Given the description of an element on the screen output the (x, y) to click on. 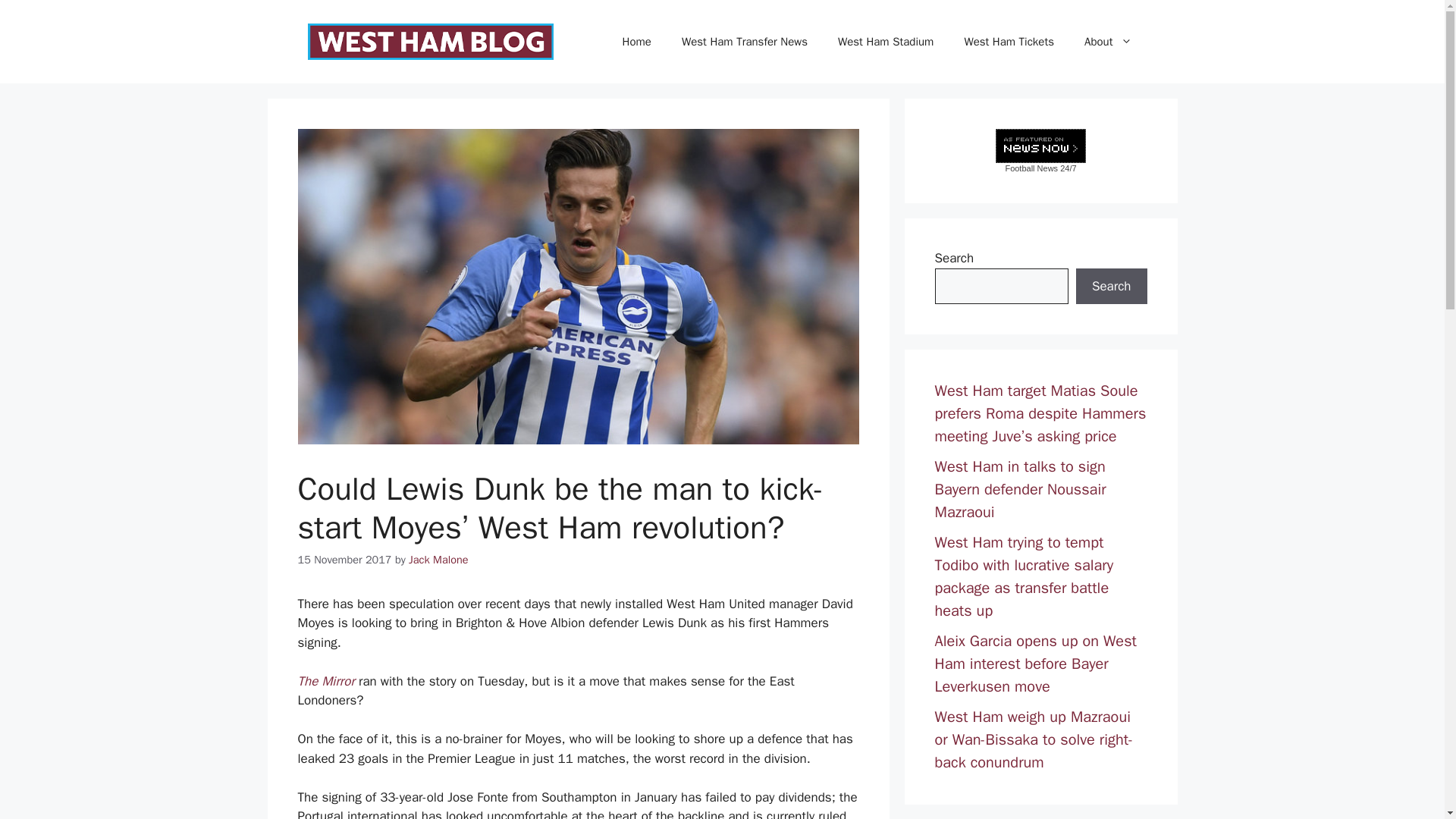
Search (1111, 286)
West Ham Tickets (1008, 41)
West Ham Transfer News (744, 41)
Home (636, 41)
West Ham in talks to sign Bayern defender Noussair Mazraoui (1019, 489)
About (1107, 41)
West Ham Stadium (885, 41)
Jack Malone (438, 559)
The Mirror (325, 681)
Click here for more Football news from NewsNow (1040, 150)
View all posts by Jack Malone (438, 559)
